Given the description of an element on the screen output the (x, y) to click on. 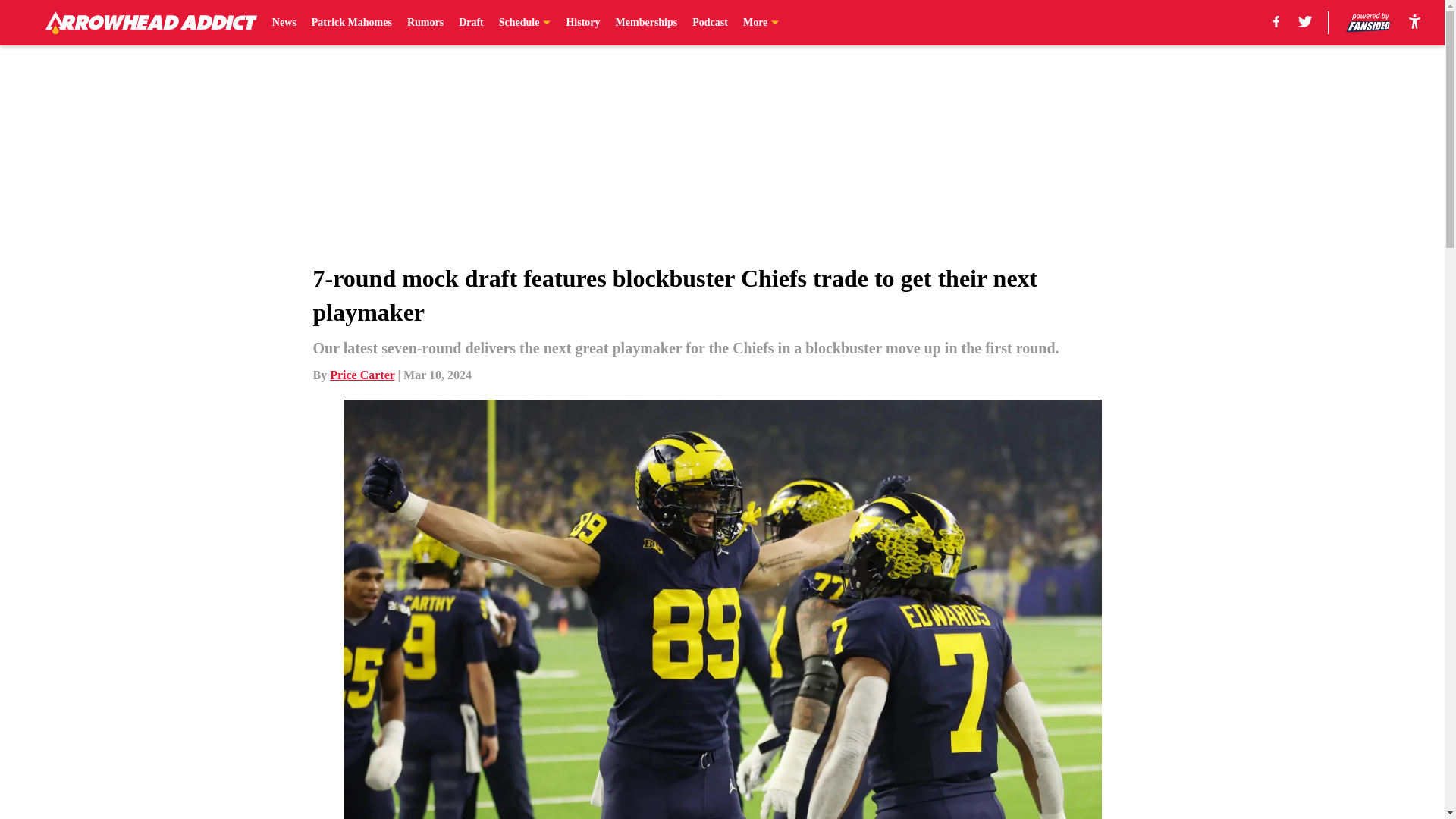
Price Carter (362, 374)
History (582, 22)
Patrick Mahomes (351, 22)
Draft (470, 22)
Rumors (425, 22)
News (284, 22)
Podcast (710, 22)
Memberships (646, 22)
